Given the description of an element on the screen output the (x, y) to click on. 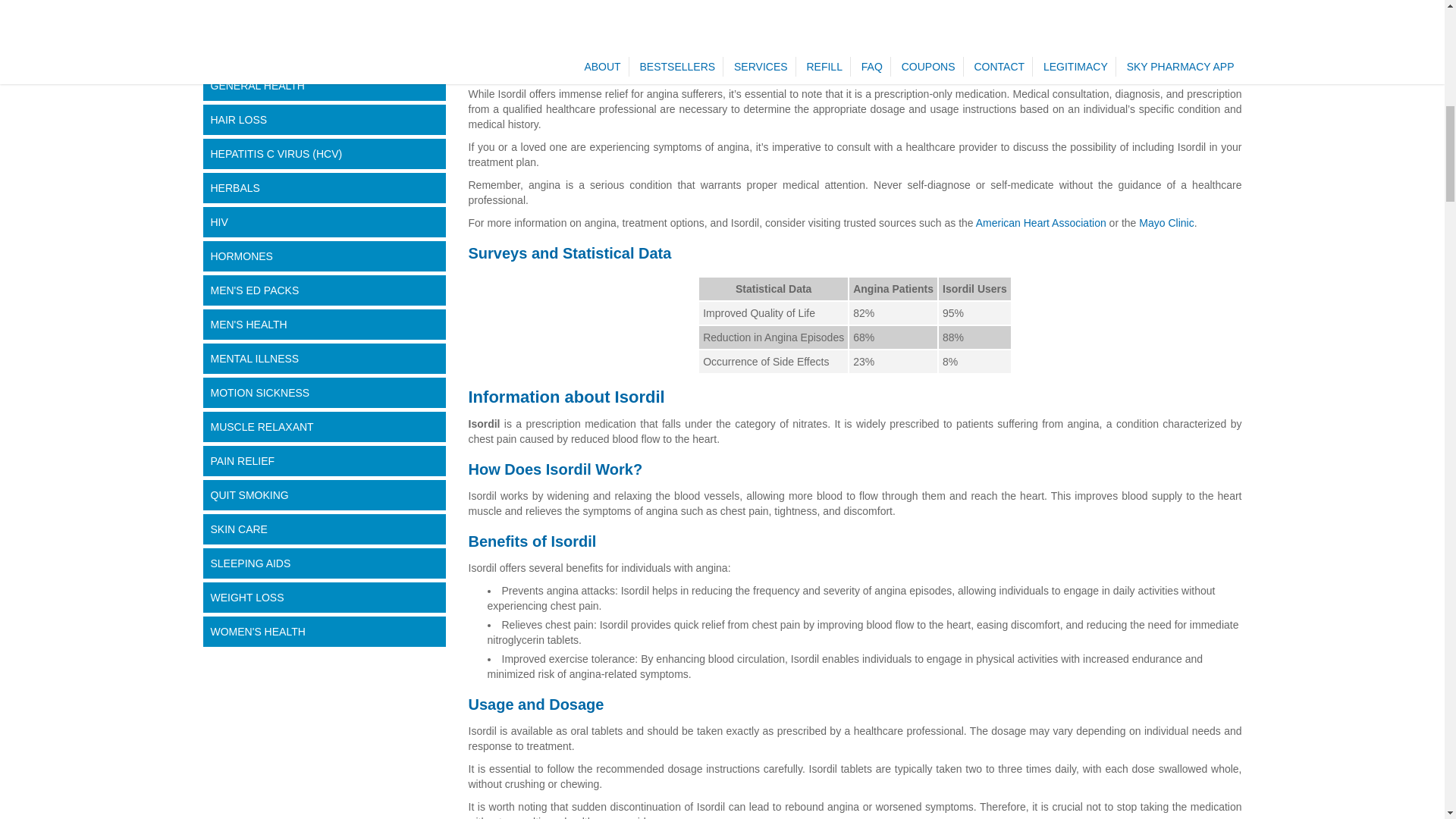
American Heart Association (1040, 223)
